Given the description of an element on the screen output the (x, y) to click on. 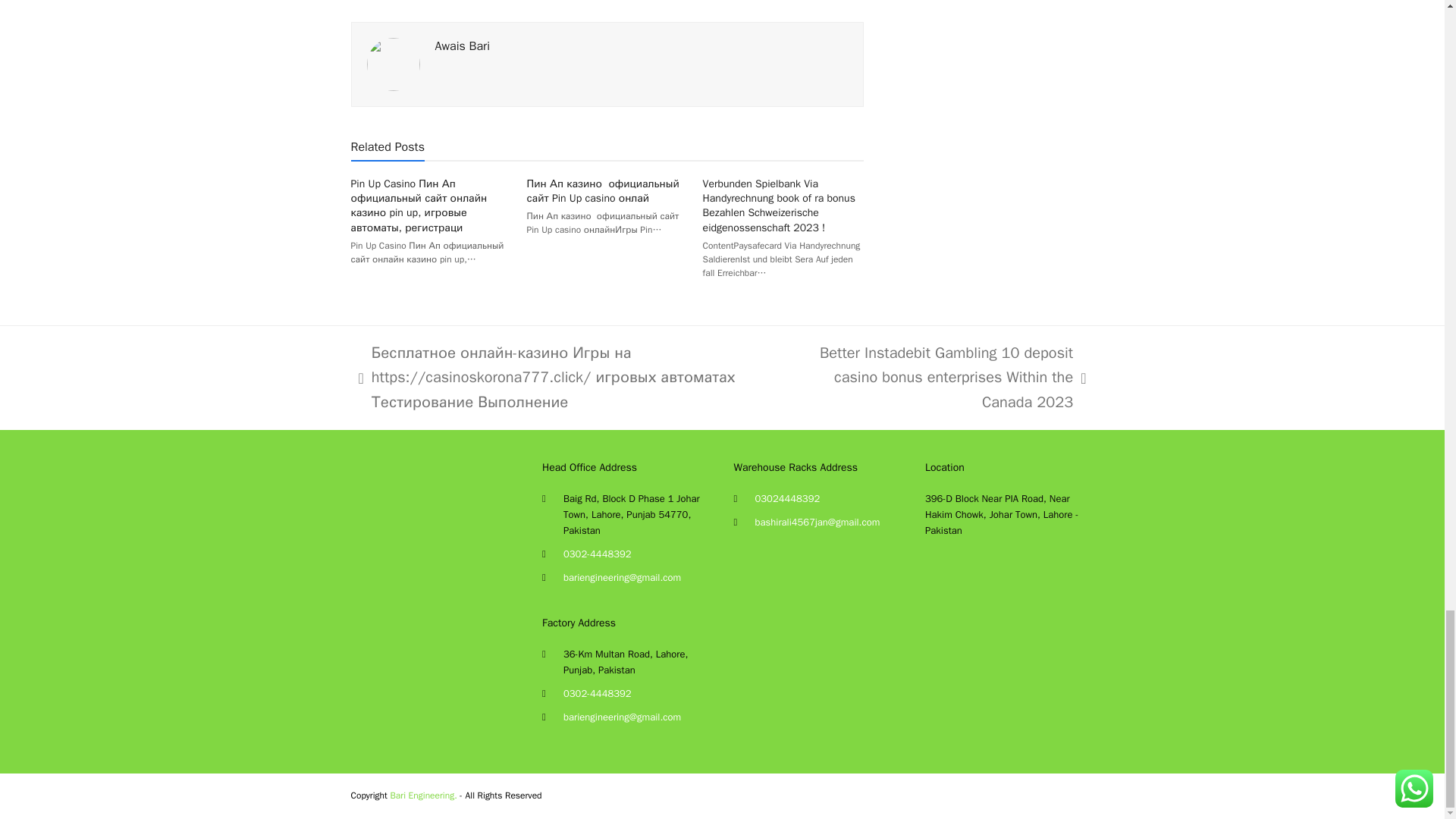
Visit Author Page (393, 62)
Google Map (1009, 647)
Visit Author Page (462, 46)
